Given the description of an element on the screen output the (x, y) to click on. 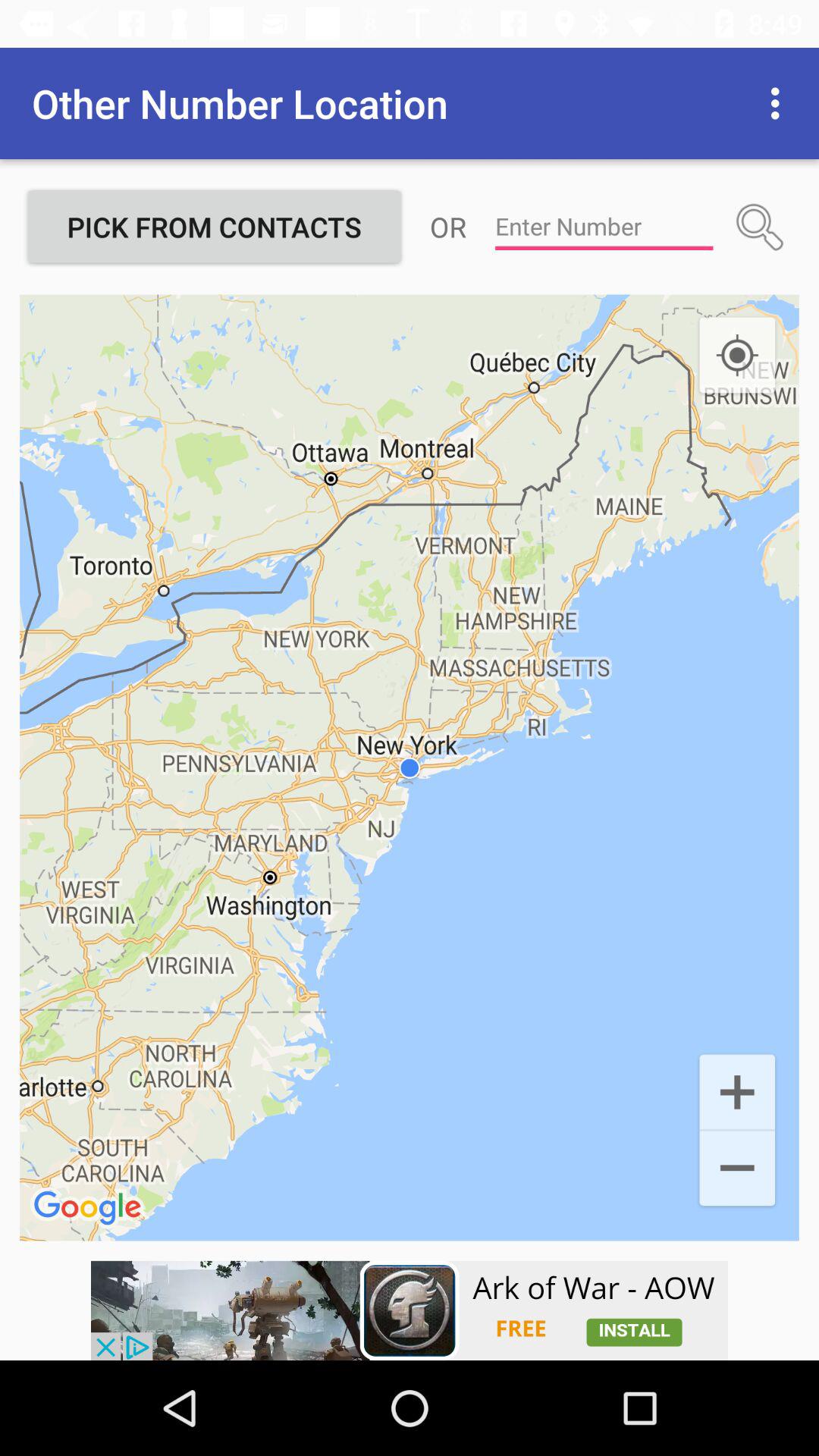
enter number (604, 226)
